Given the description of an element on the screen output the (x, y) to click on. 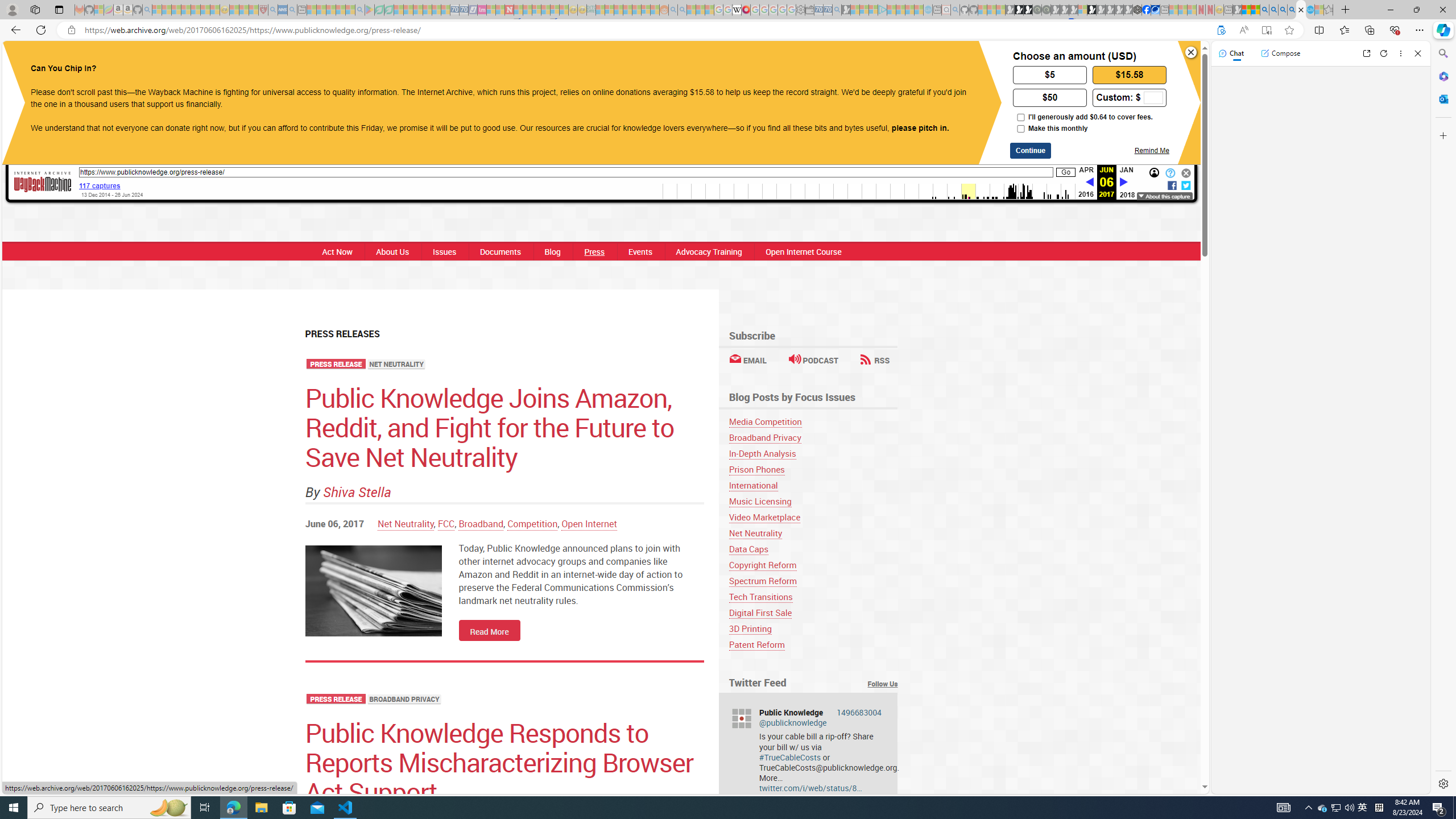
Data Caps (748, 548)
Support Internet Archive? (1220, 29)
Data Caps (813, 548)
Patent Reform (756, 644)
DONATE (828, 60)
Continue (1030, 150)
Issues (443, 251)
EMAIL (747, 360)
